Given the description of an element on the screen output the (x, y) to click on. 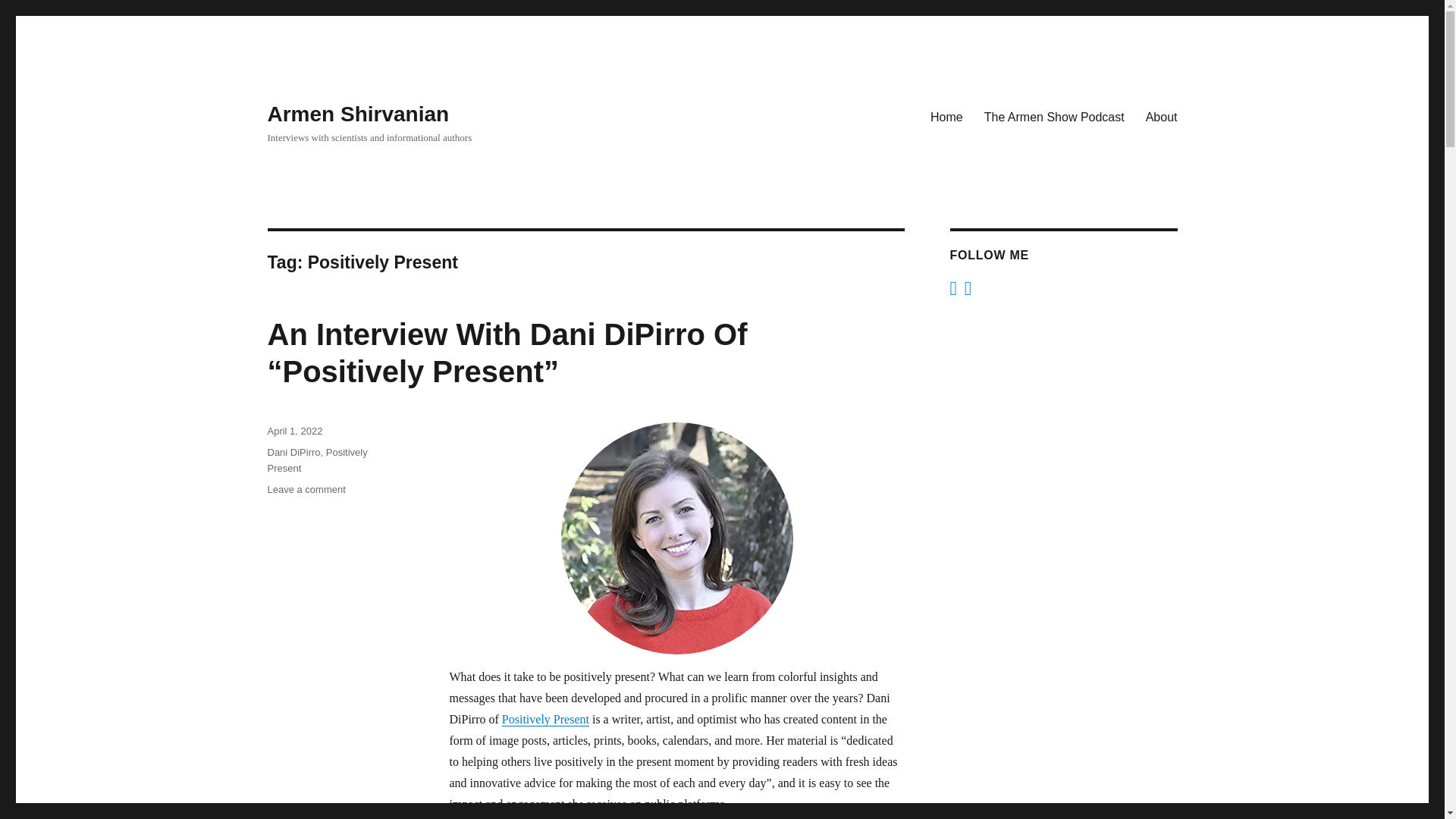
The Armen Show Podcast (1054, 116)
April 1, 2022 (293, 430)
Home (947, 116)
Positively Present (545, 718)
Armen Shirvanian (357, 114)
About (1161, 116)
Positively Present (316, 460)
Dani DiPirro (293, 451)
